Given the description of an element on the screen output the (x, y) to click on. 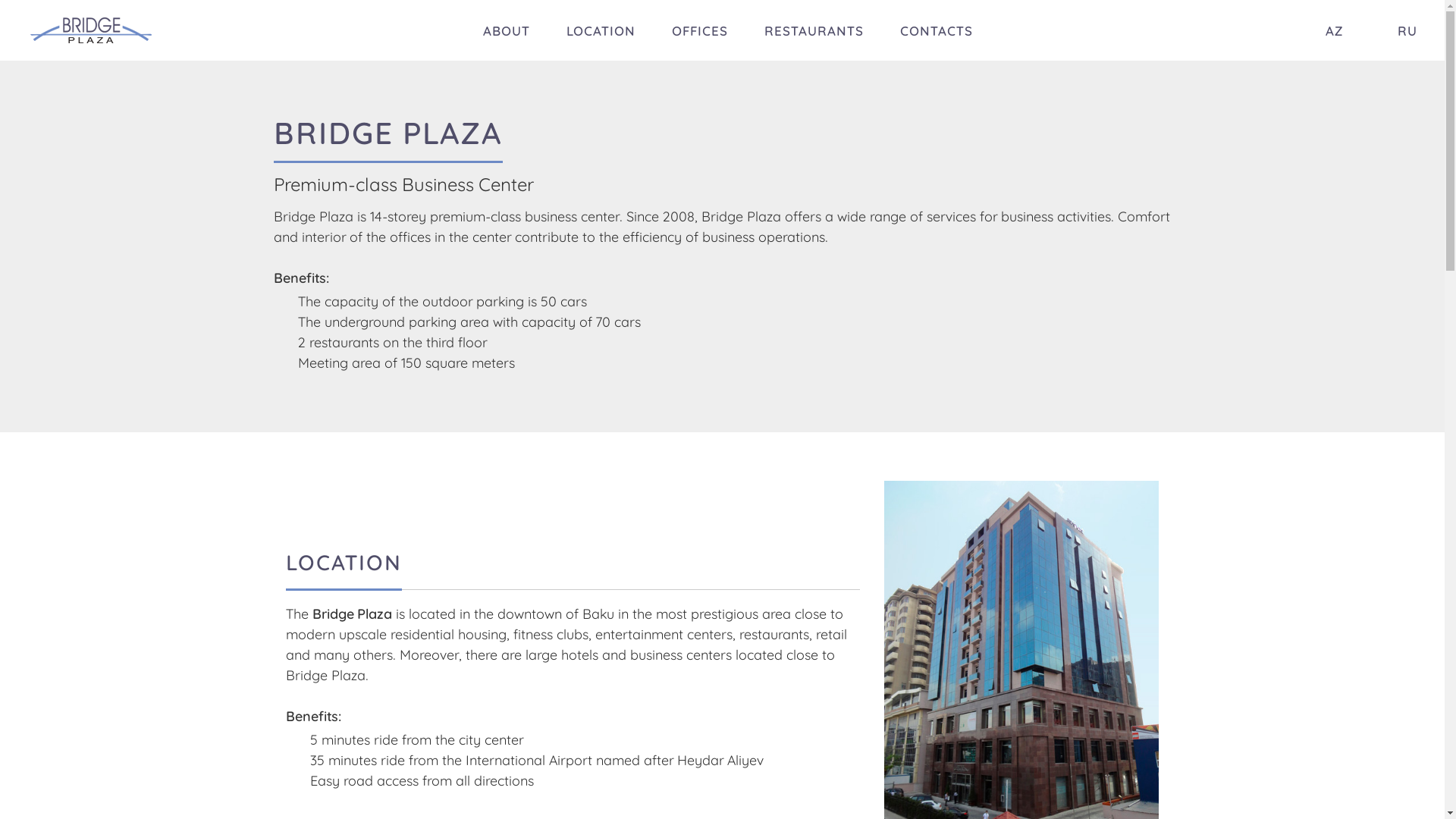
LOCATION Element type: text (600, 30)
CONTACTS Element type: text (936, 30)
ABOUT Element type: text (506, 30)
OFFICES Element type: text (699, 30)
AZ Element type: text (1322, 30)
RESTAURANTS Element type: text (813, 30)
RU Element type: text (1395, 30)
